Given the description of an element on the screen output the (x, y) to click on. 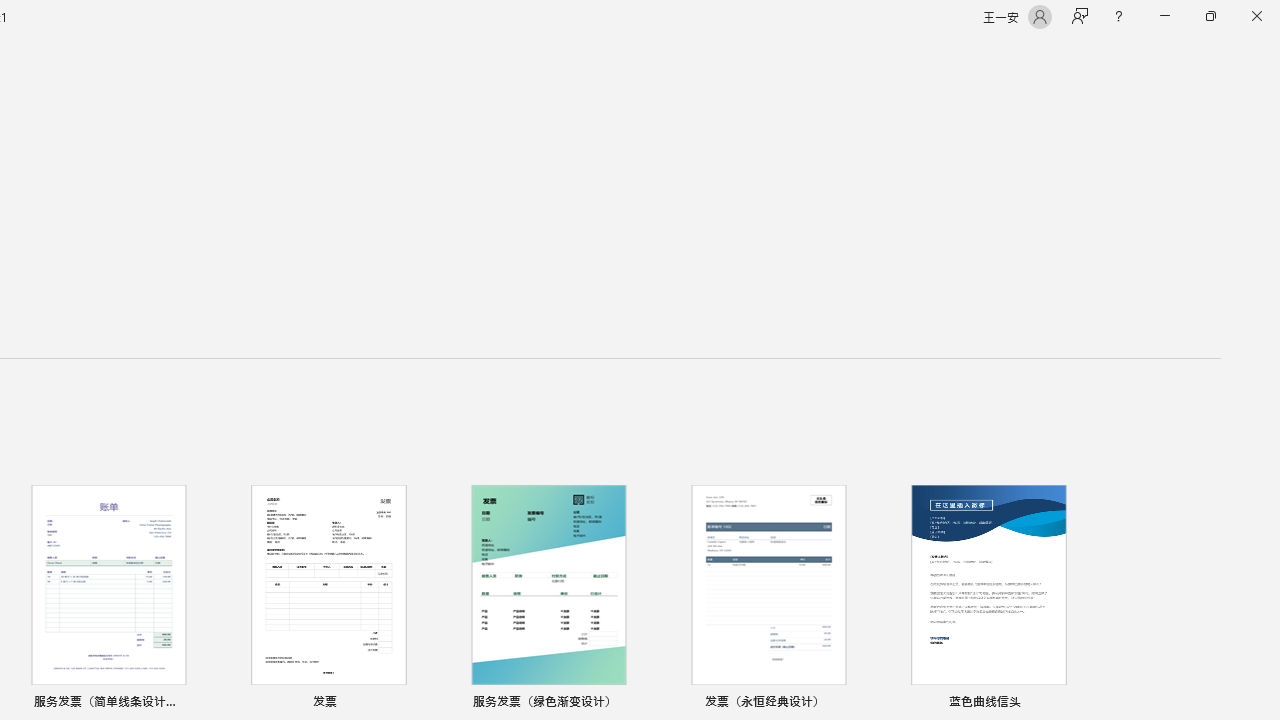
Pin to list (1075, 703)
